Given the description of an element on the screen output the (x, y) to click on. 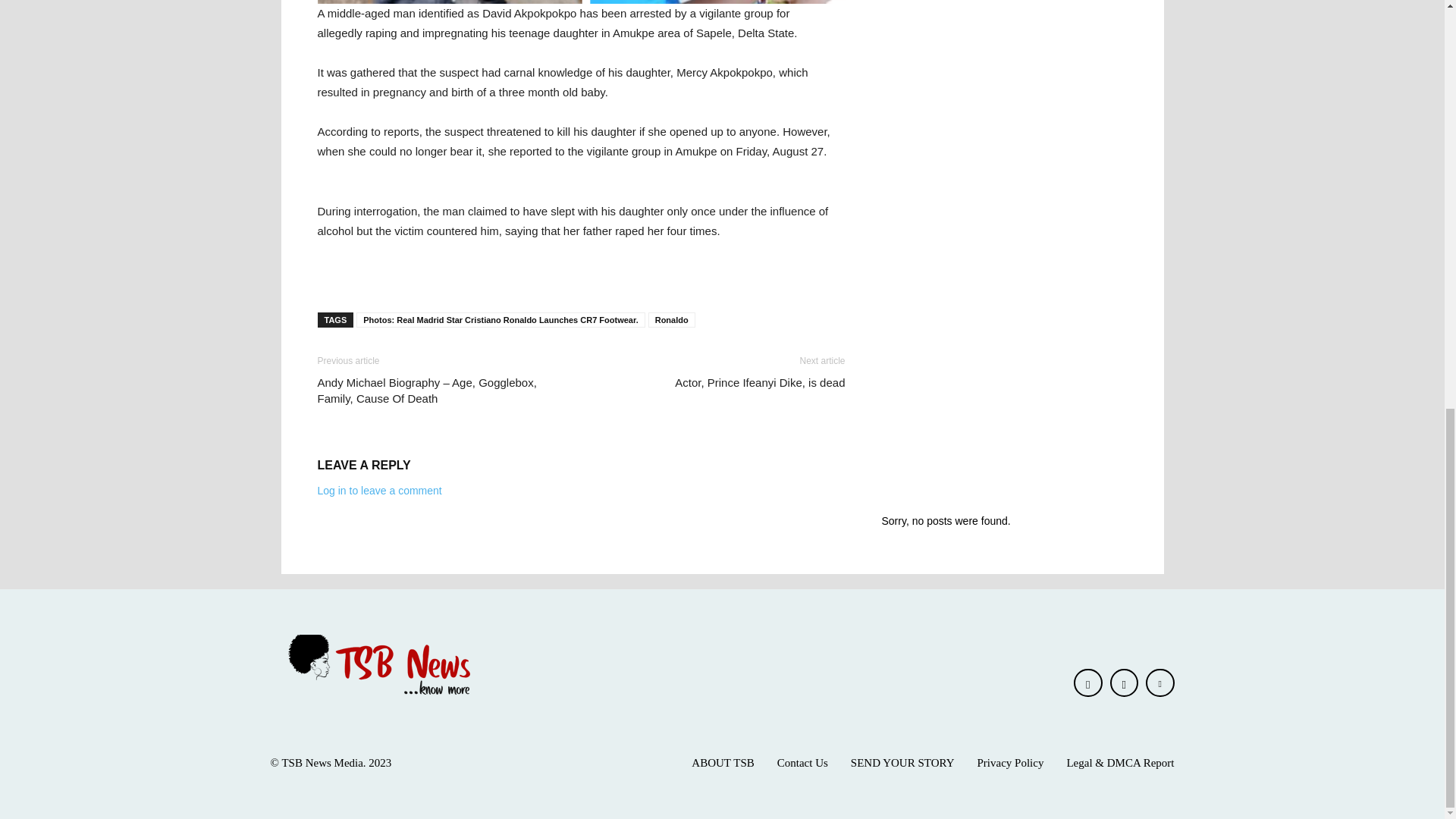
Ronaldo (671, 319)
